Given the description of an element on the screen output the (x, y) to click on. 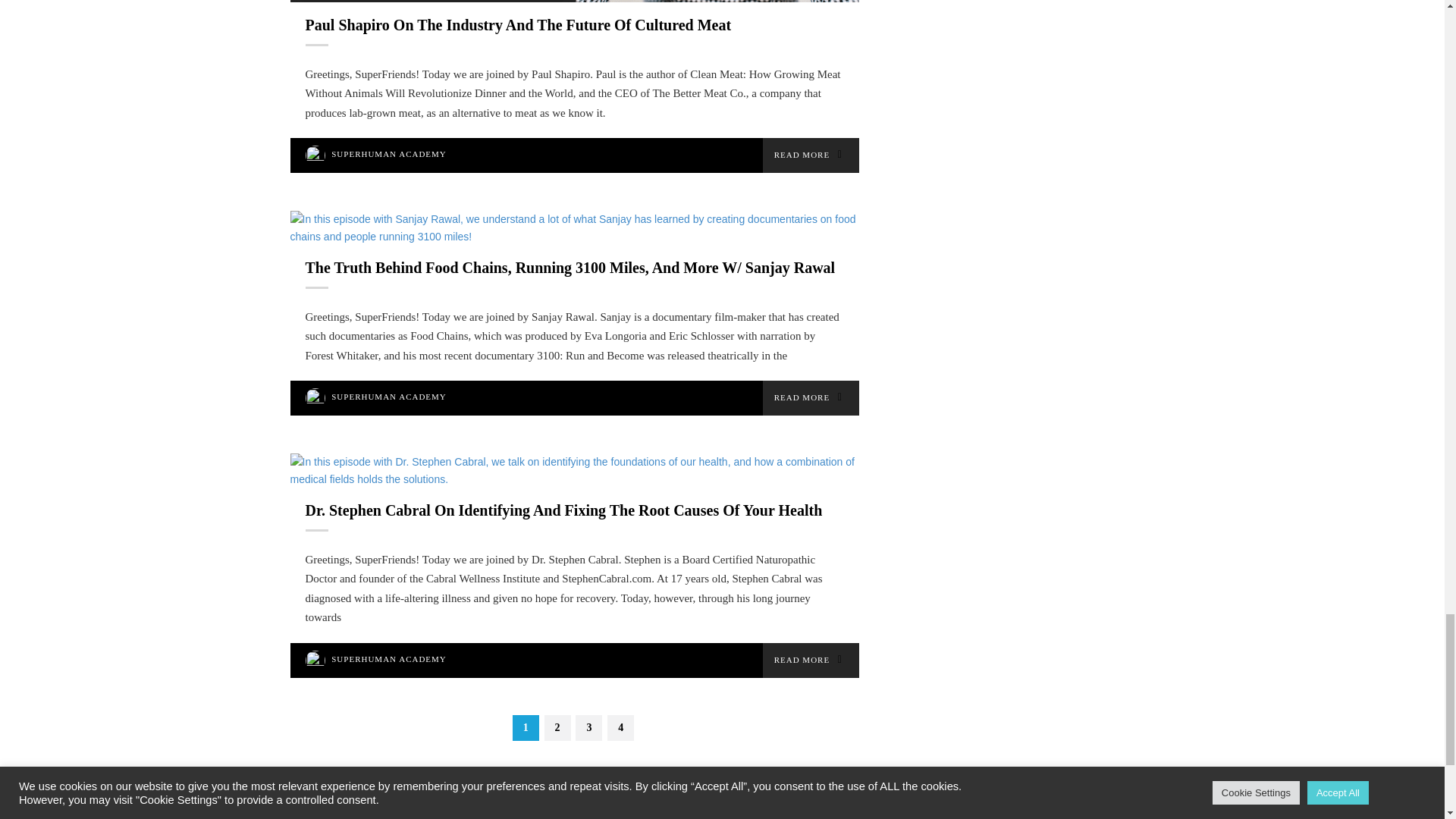
View all posts by SuperHuman Academy (388, 153)
View all posts by SuperHuman Academy (388, 658)
View all posts by SuperHuman Academy (388, 396)
